Given the description of an element on the screen output the (x, y) to click on. 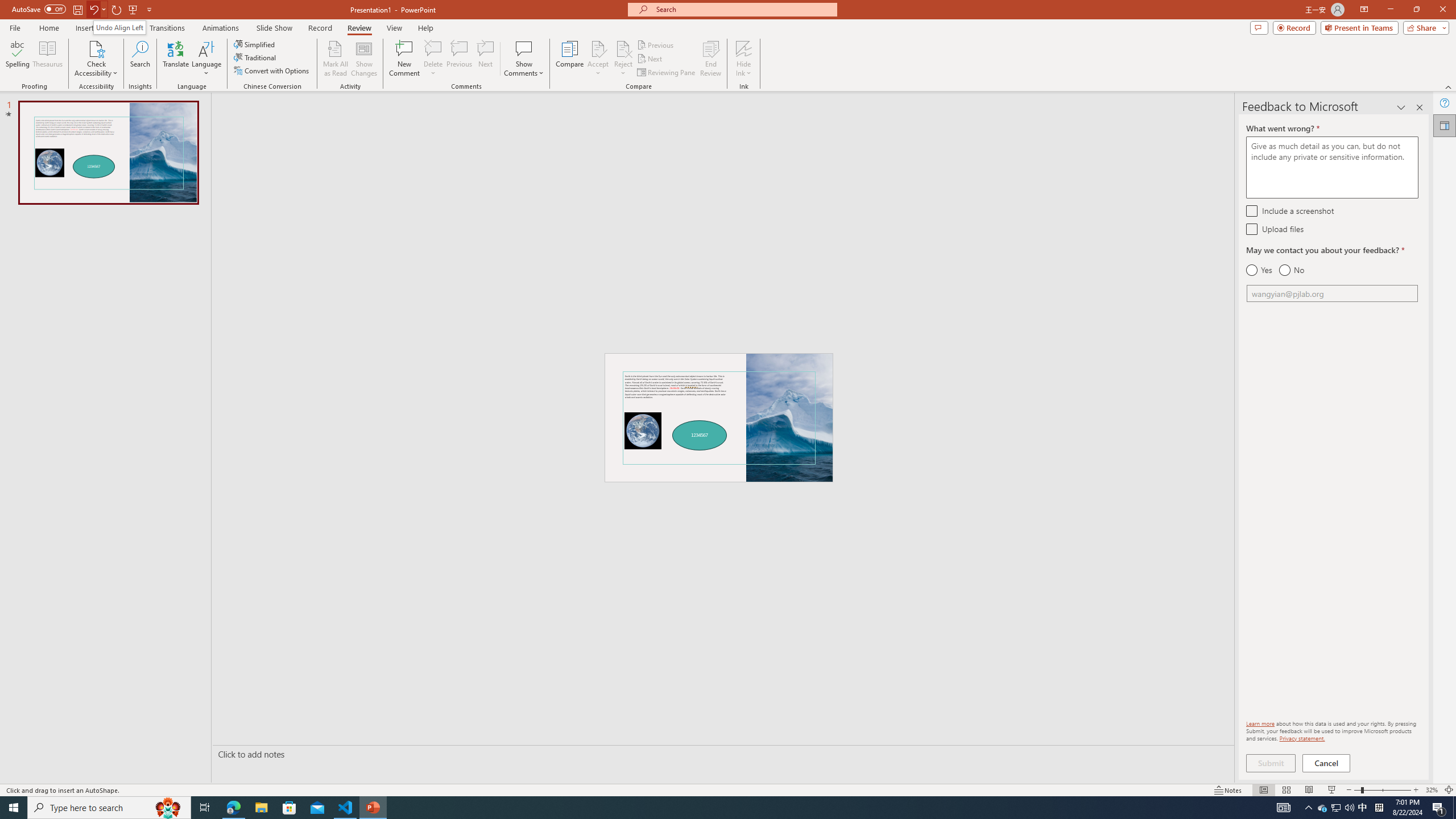
What went wrong? * (1332, 167)
Show Comments (524, 48)
Mark All as Read (335, 58)
Reject (622, 58)
Delete (432, 48)
End Review (710, 58)
Previous (655, 44)
Simplified (254, 44)
Language (206, 58)
Submit (1270, 763)
